Given the description of an element on the screen output the (x, y) to click on. 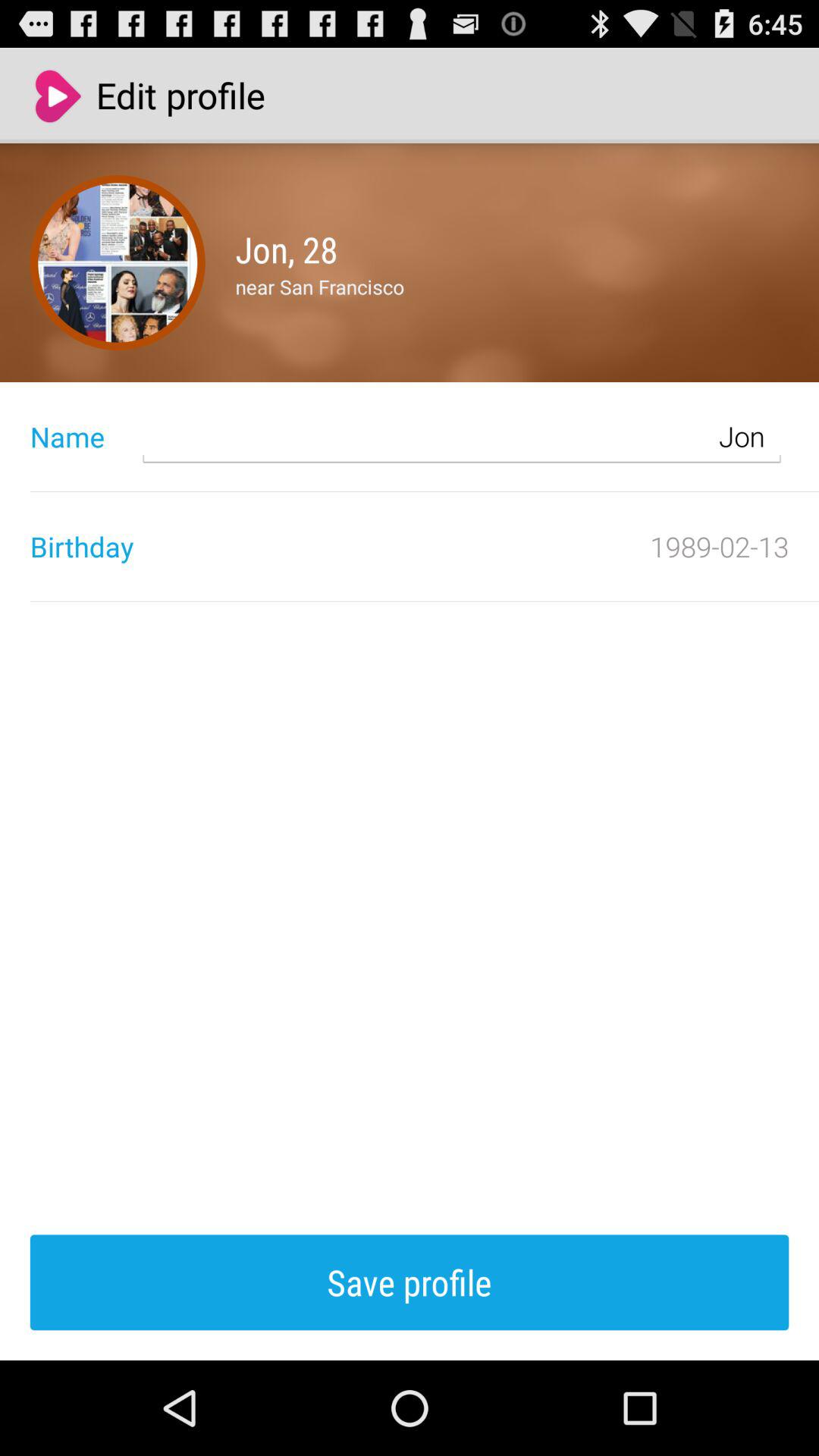
choose photograph (117, 262)
